Given the description of an element on the screen output the (x, y) to click on. 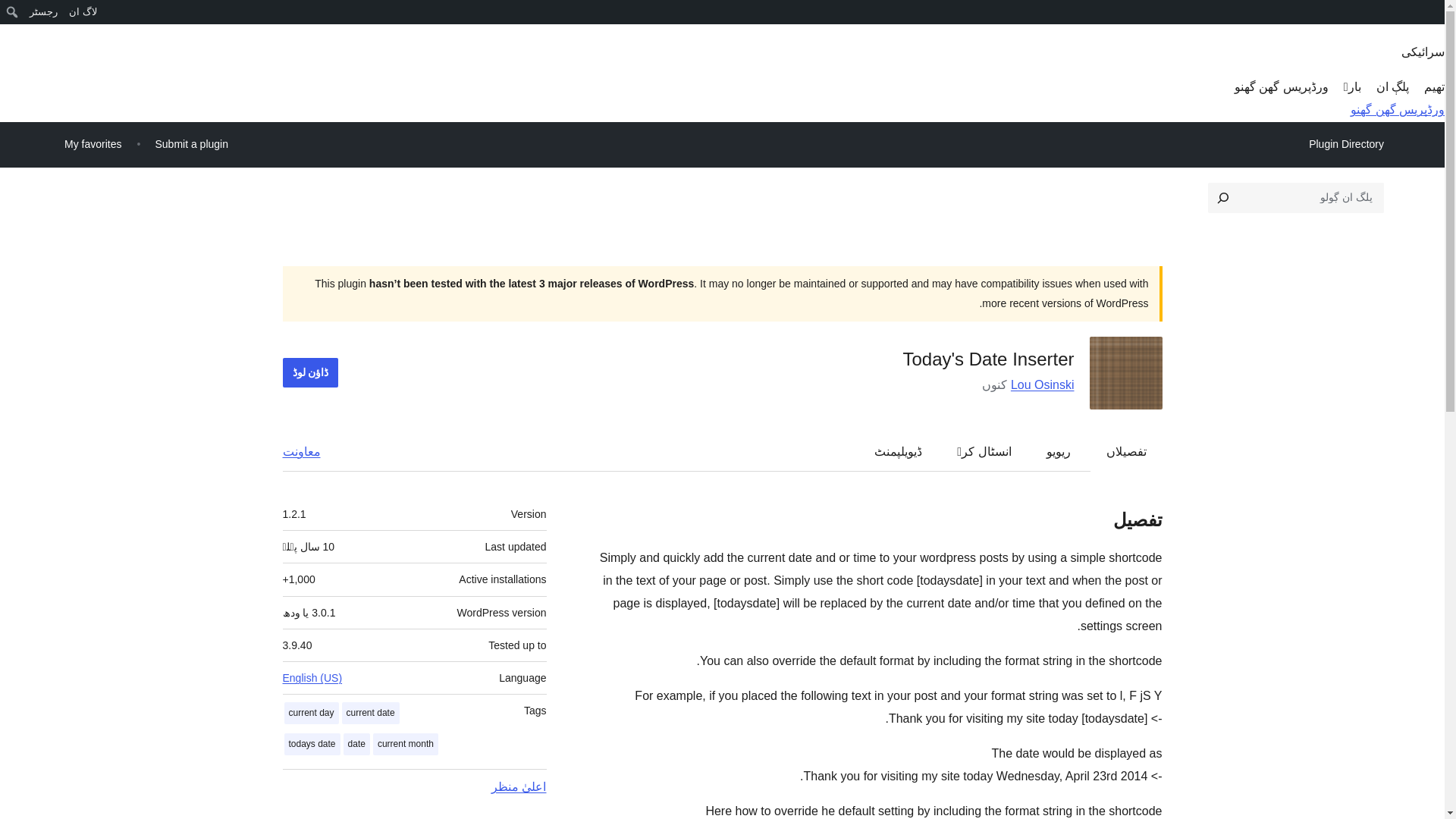
Submit a plugin (191, 144)
Plugin Directory (1345, 143)
My favorites (93, 144)
Lou Osinski (1042, 384)
